Given the description of an element on the screen output the (x, y) to click on. 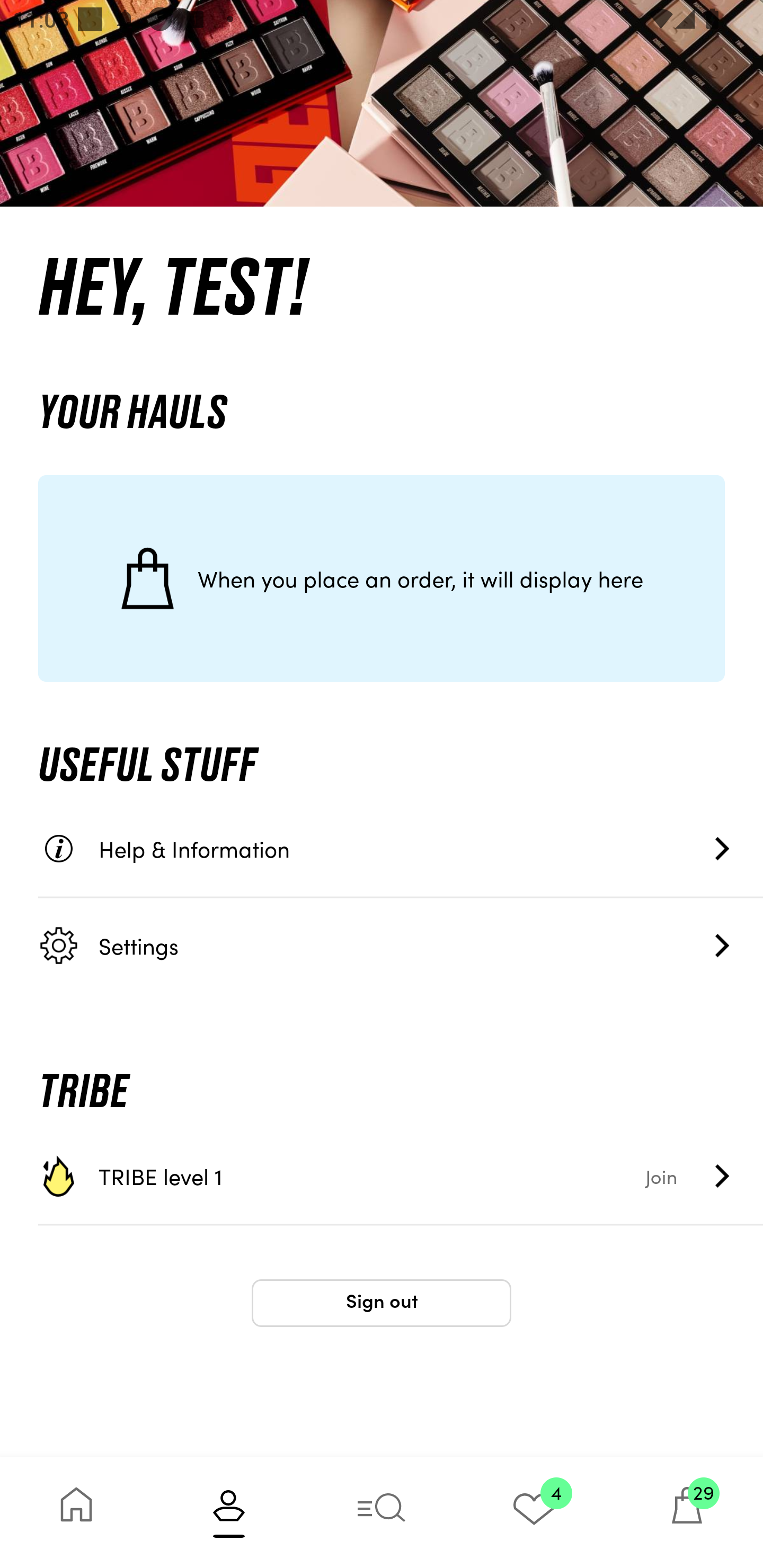
Help & Information (400, 848)
Settings (400, 945)
TRIBE level 1 Join (400, 1175)
Sign out (381, 1302)
4 (533, 1512)
29 (686, 1512)
